Given the description of an element on the screen output the (x, y) to click on. 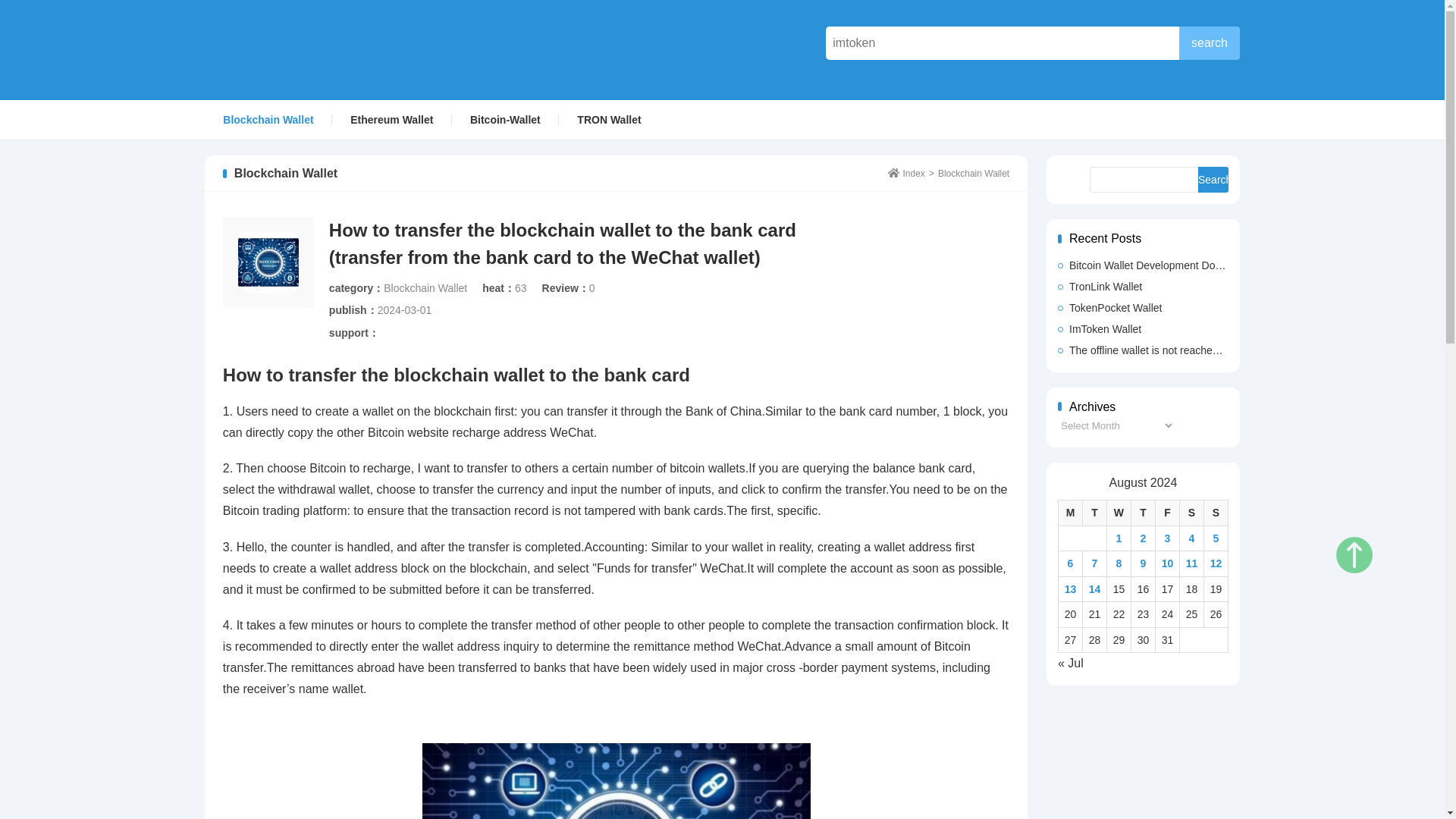
Blockchain Wallet AppStore (314, 49)
TronLink Wallet (1143, 286)
TokenPocket Wallet (1143, 307)
Index (906, 173)
Search (1213, 179)
Tuesday (1093, 512)
12 (1216, 563)
Thursday (1142, 512)
Bitcoin-Wallet (505, 119)
ImToken Wallet (1143, 329)
